Given the description of an element on the screen output the (x, y) to click on. 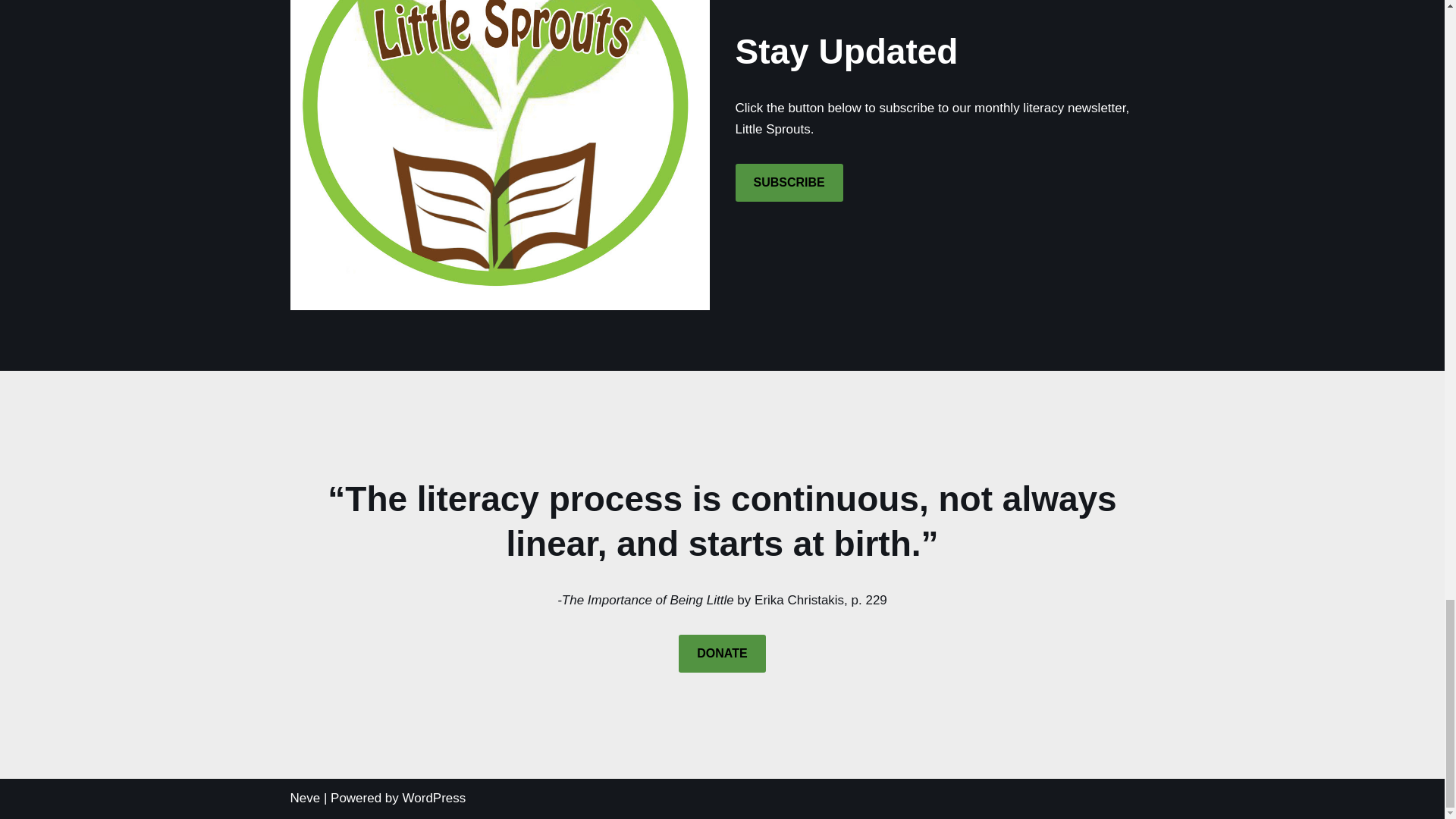
WordPress (434, 798)
DONATE (721, 653)
Neve (304, 798)
SUBSCRIBE (789, 182)
